Given the description of an element on the screen output the (x, y) to click on. 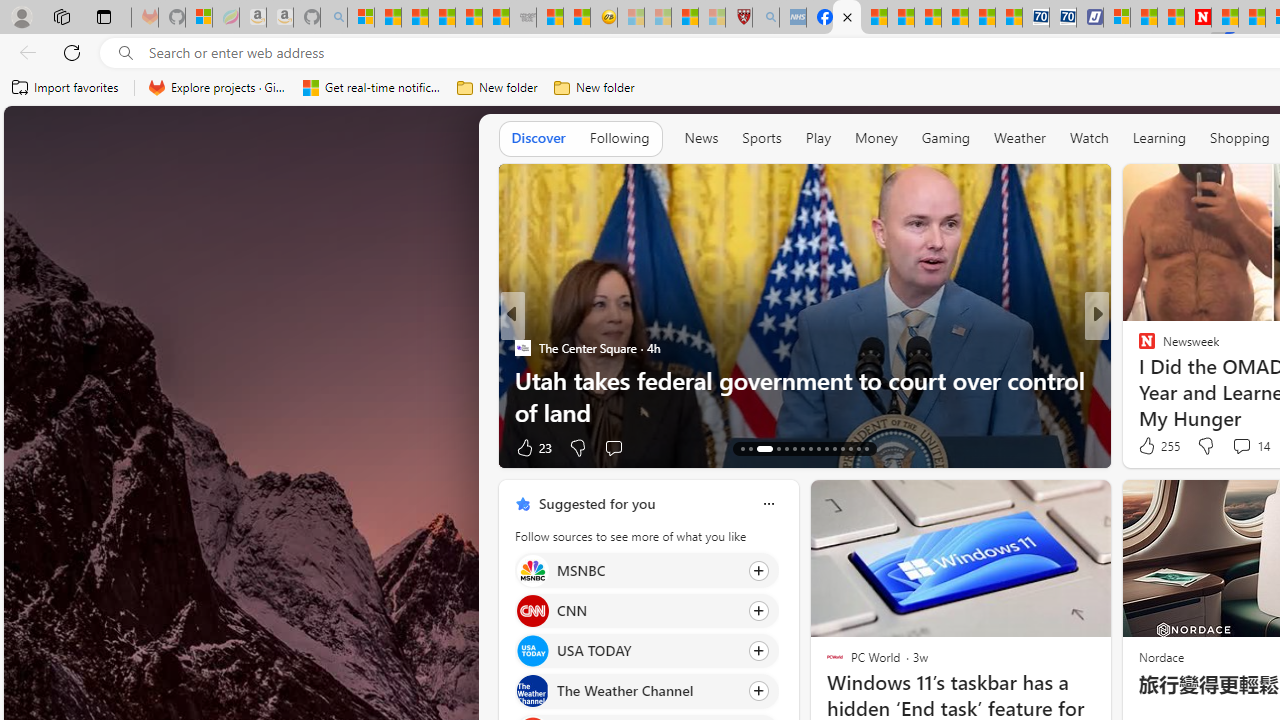
View comments 24 Comment (1234, 447)
Constative (1138, 347)
BuzzFeed (1138, 347)
AutomationID: tab-70 (786, 448)
15 Anti-Aging Foods to Add to Your Diet (804, 411)
Click to follow source MSNBC (646, 570)
